Given the description of an element on the screen output the (x, y) to click on. 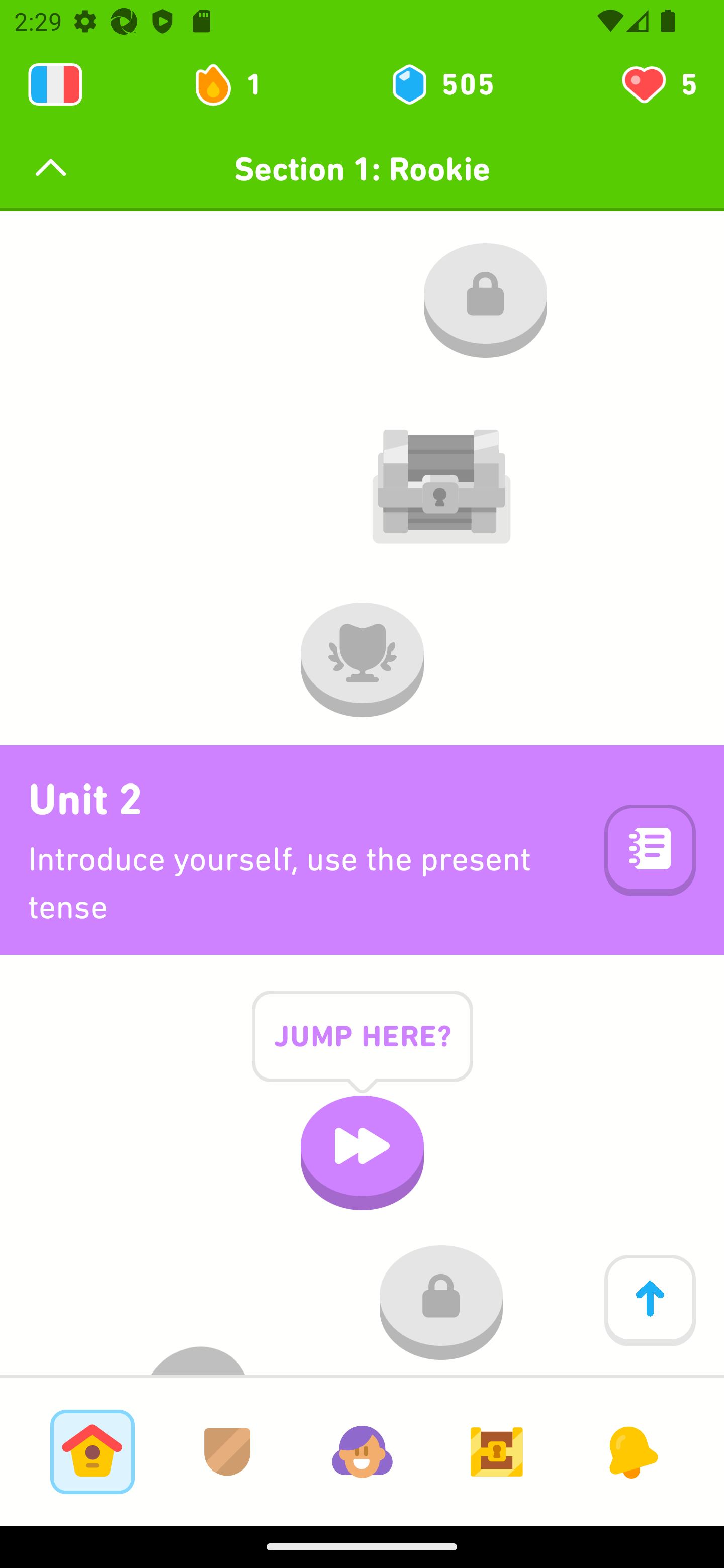
Learning 2131888976 (55, 84)
1 day streak 1 (236, 84)
505 (441, 84)
You have 5 hearts left 5 (657, 84)
Section 1: Rookie (362, 169)
JUMP HERE? (361, 1052)
Learn Tab (91, 1451)
Leagues Tab (227, 1451)
Profile Tab (361, 1451)
Goals Tab (496, 1451)
News Tab (631, 1451)
